Given the description of an element on the screen output the (x, y) to click on. 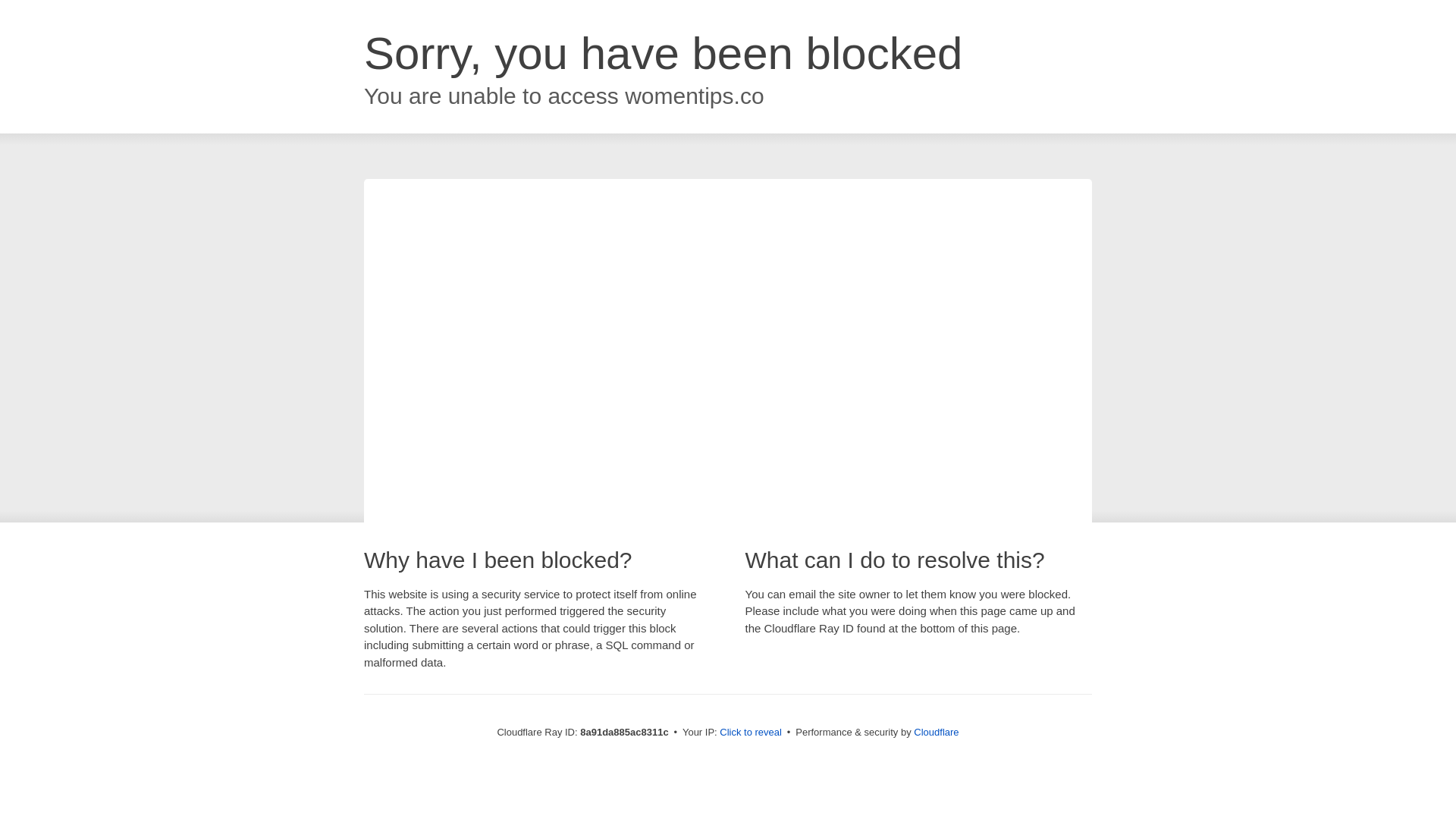
Click to reveal (750, 732)
Cloudflare (936, 731)
